Given the description of an element on the screen output the (x, y) to click on. 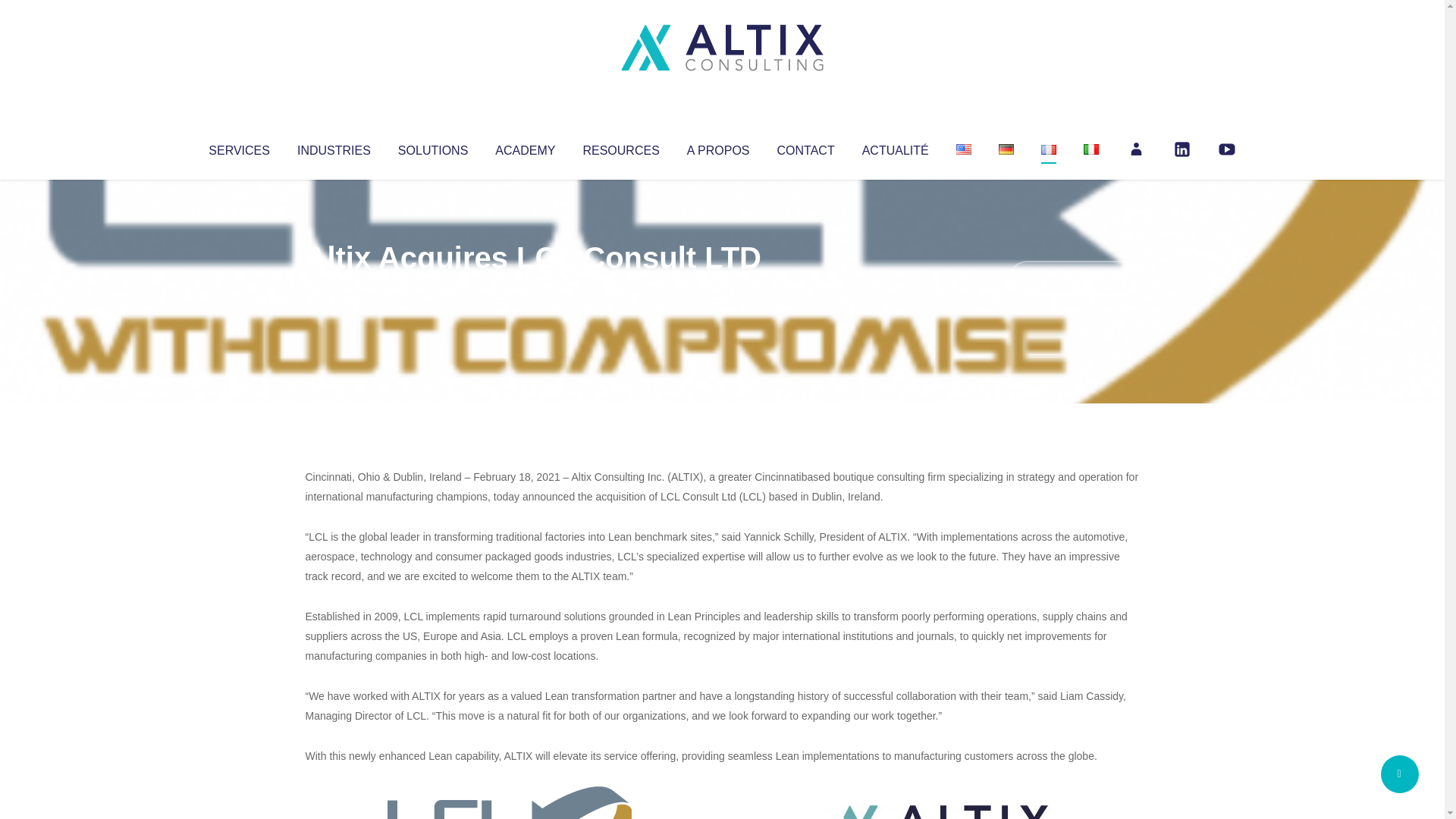
RESOURCES (620, 146)
SERVICES (238, 146)
ACADEMY (524, 146)
INDUSTRIES (334, 146)
SOLUTIONS (432, 146)
No Comments (1073, 278)
A PROPOS (718, 146)
Articles par Altix (333, 287)
Altix (333, 287)
Uncategorized (530, 287)
